Given the description of an element on the screen output the (x, y) to click on. 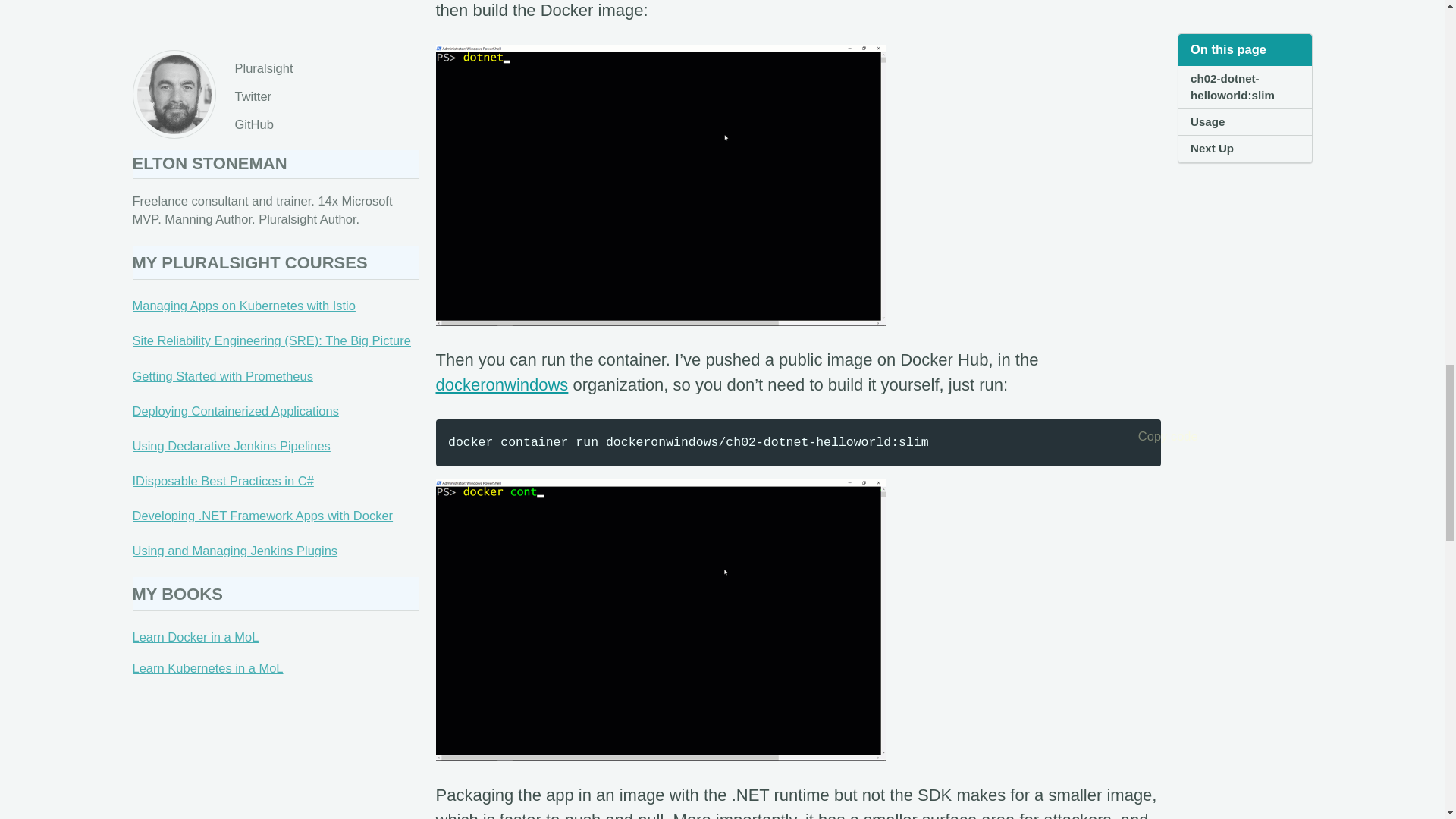
Copy to clipboard (1143, 435)
dockeronwindows (501, 384)
